Given the description of an element on the screen output the (x, y) to click on. 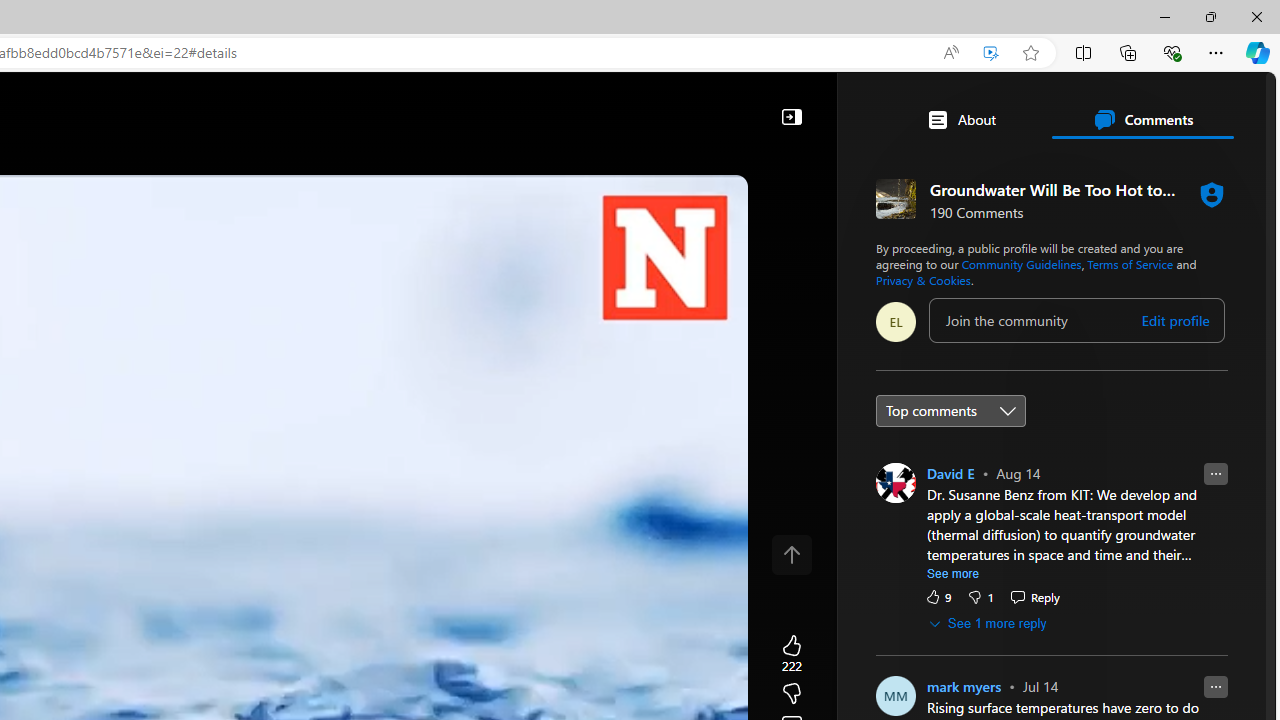
The Associated Press (777, 645)
See 1 more reply (989, 623)
Dislike (980, 596)
Microsoft rewards (1151, 105)
Notifications (1192, 105)
